Given the description of an element on the screen output the (x, y) to click on. 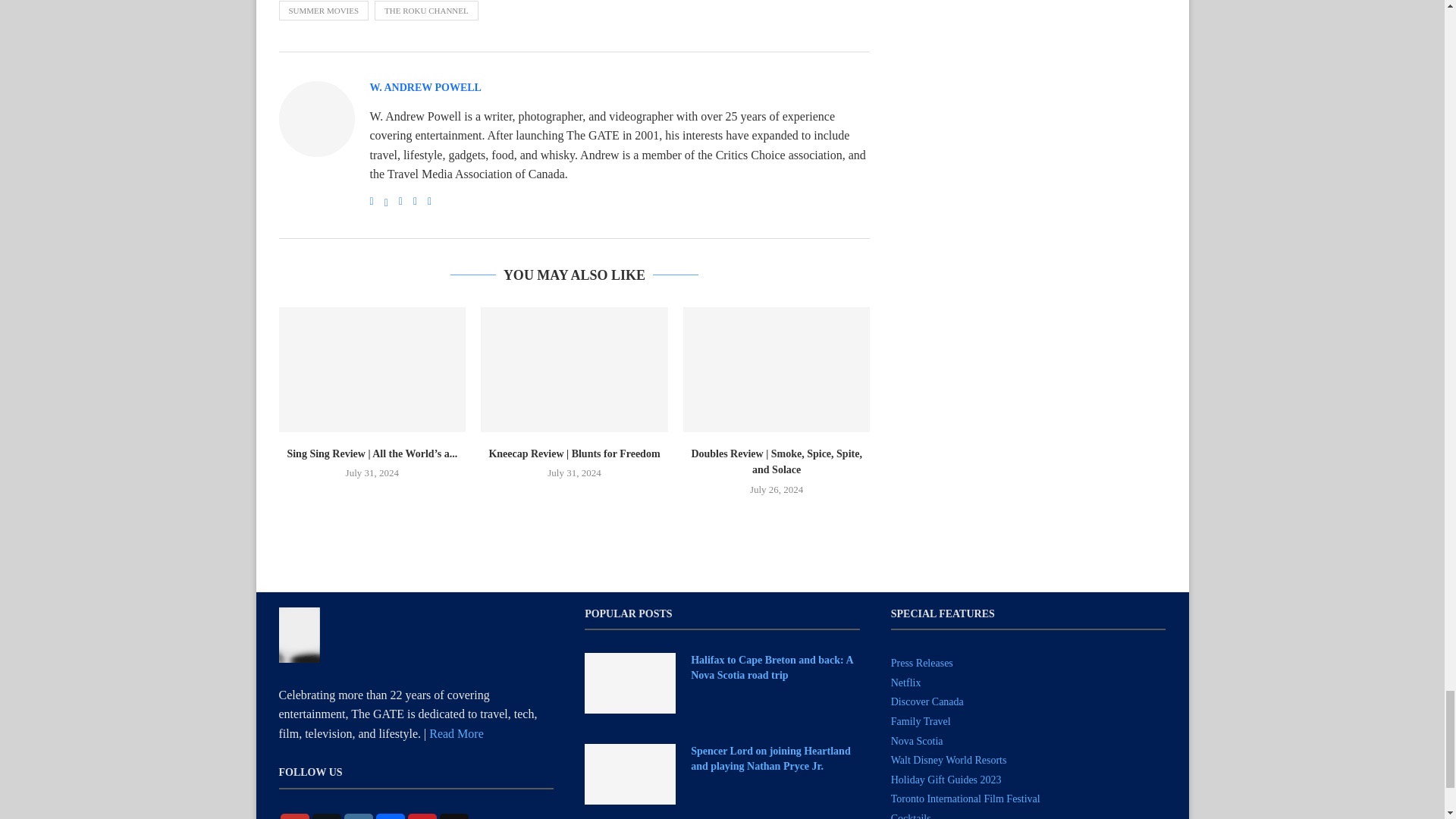
Halifax to Cape Breton and back: A Nova Scotia road trip (775, 667)
Author W. Andrew Powell (425, 88)
Halifax to Cape Breton and back: A Nova Scotia road trip (630, 682)
